Given the description of an element on the screen output the (x, y) to click on. 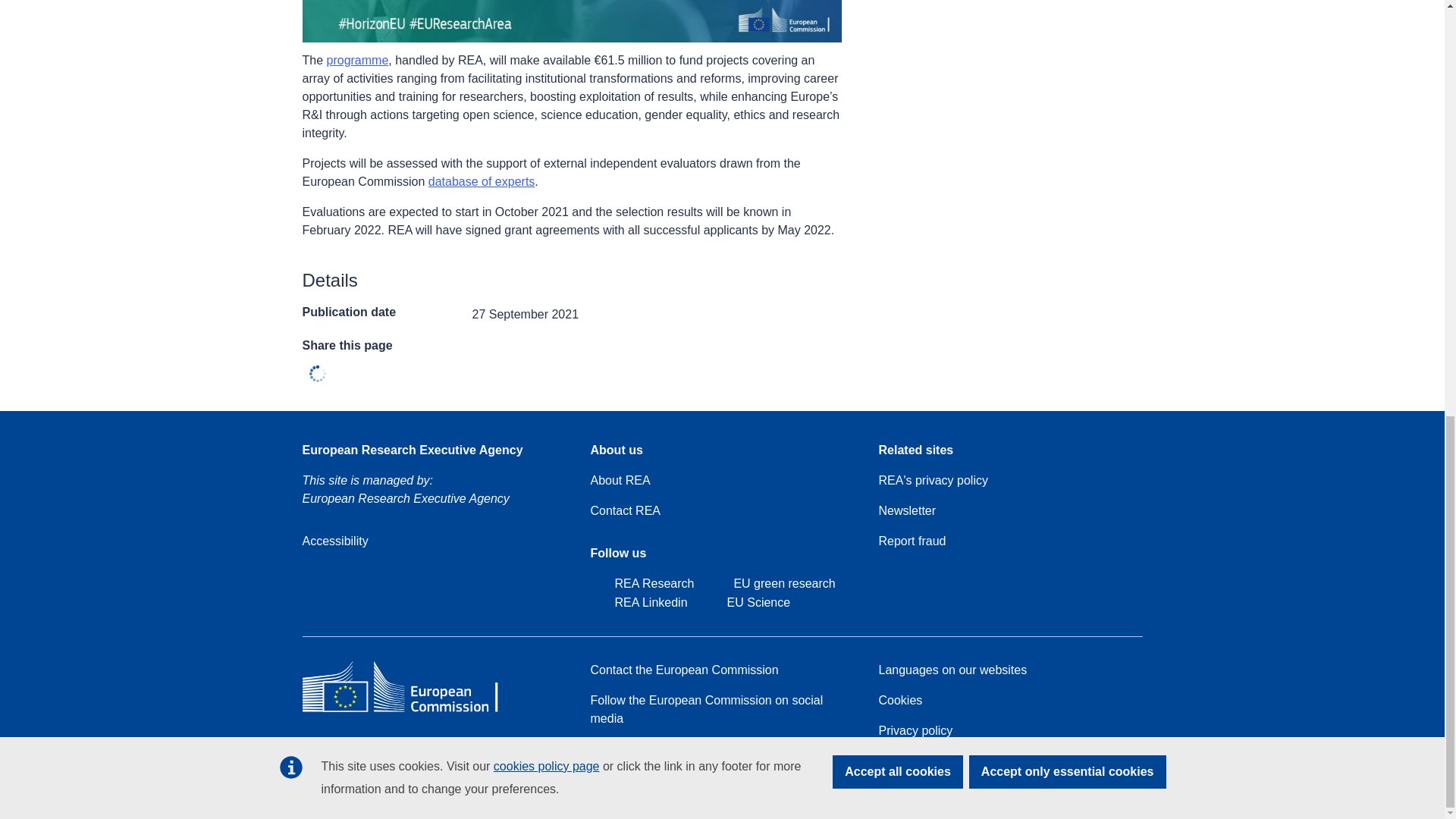
European Commission (411, 711)
